Given the description of an element on the screen output the (x, y) to click on. 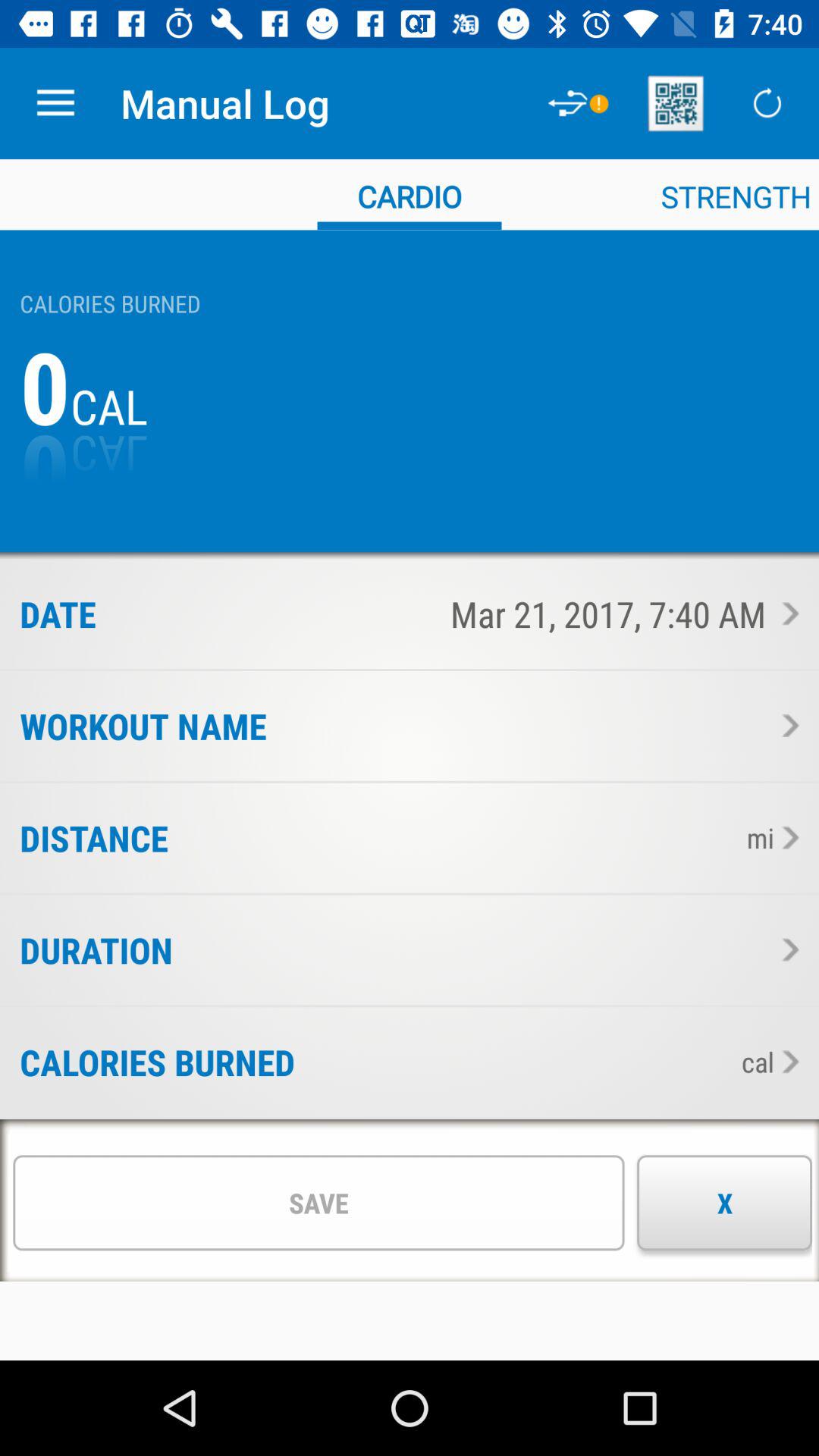
turn off the icon next to the mi (452, 837)
